Given the description of an element on the screen output the (x, y) to click on. 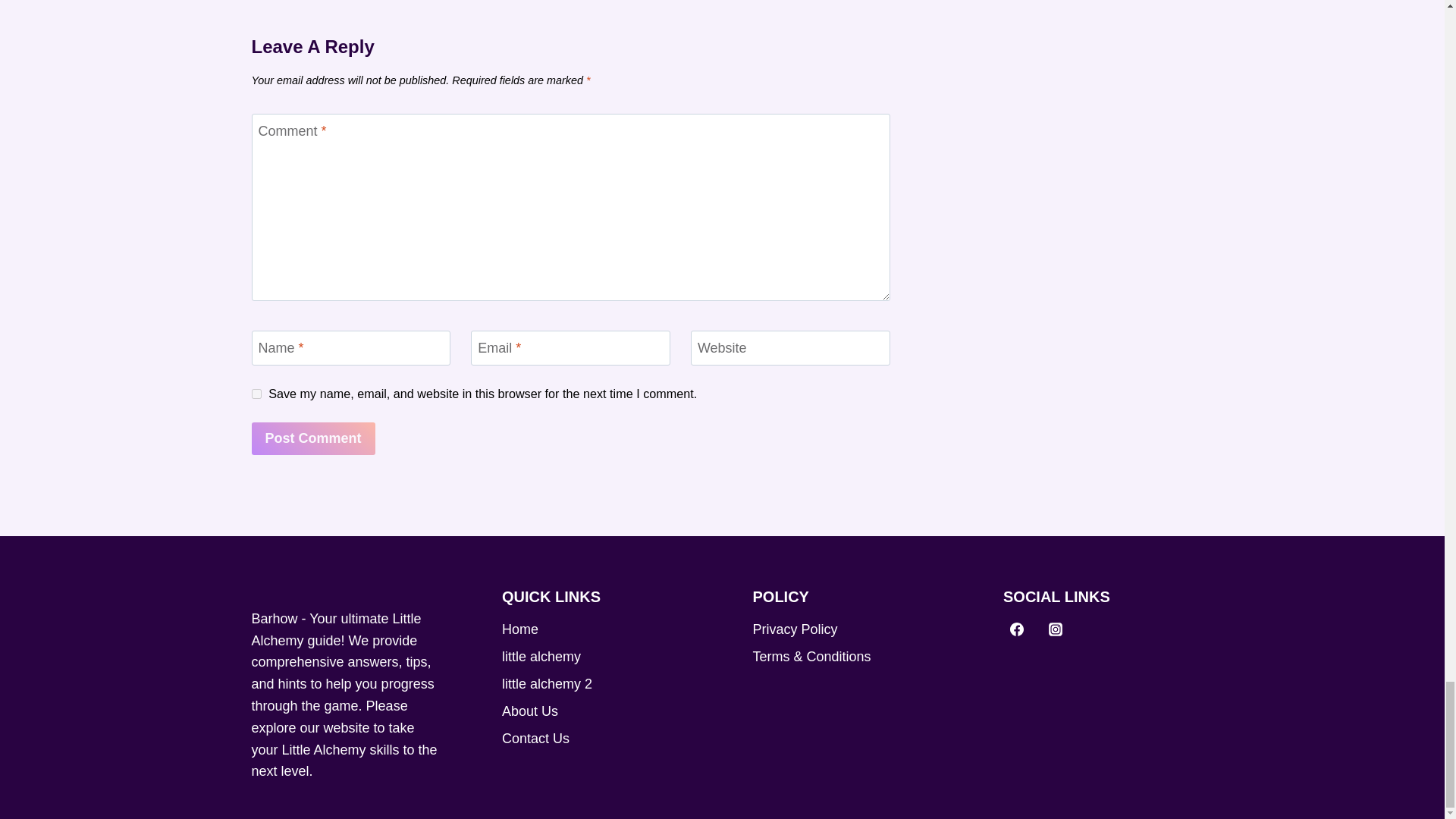
Post Comment (313, 438)
yes (256, 393)
